Given the description of an element on the screen output the (x, y) to click on. 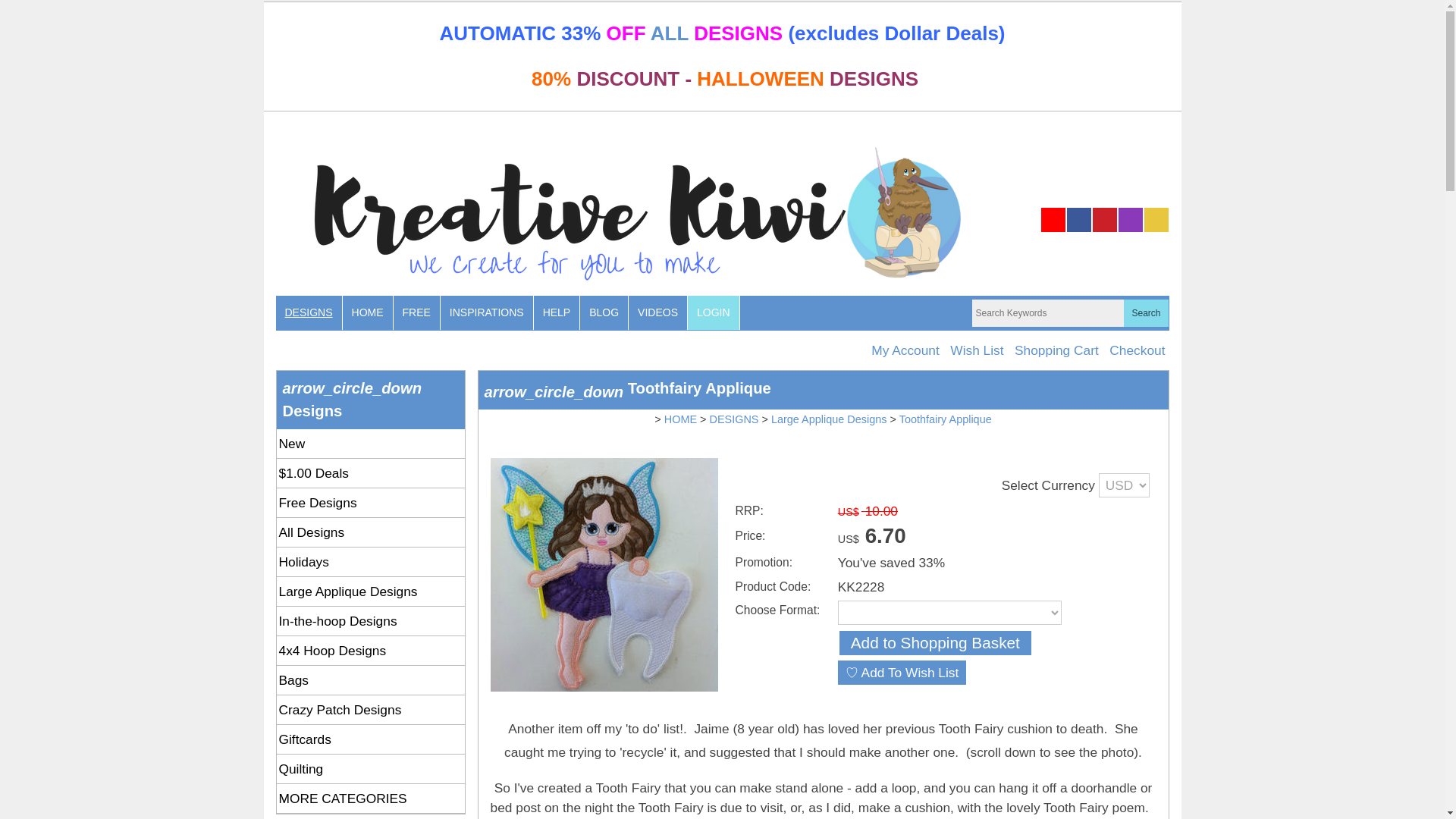
Free Designs (370, 502)
My Account (904, 350)
Large Applique Designs (370, 591)
ALL DESIGNS (716, 33)
INSPIRATIONS (487, 312)
My Account (904, 350)
HOME (367, 312)
VIDEOS (657, 312)
Wish List (976, 350)
LOGIN (713, 312)
